Given the description of an element on the screen output the (x, y) to click on. 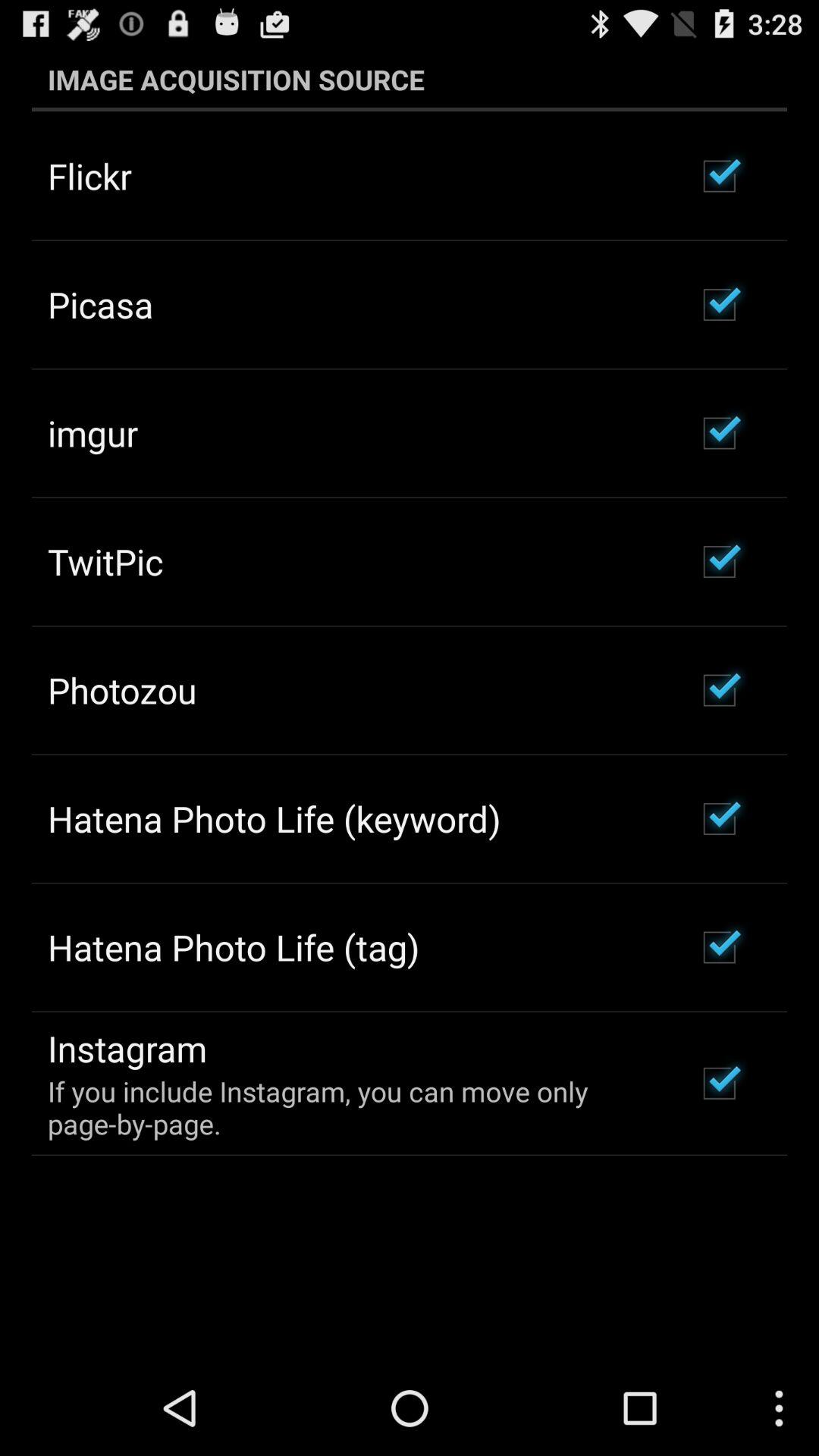
swipe to the flickr app (89, 175)
